Given the description of an element on the screen output the (x, y) to click on. 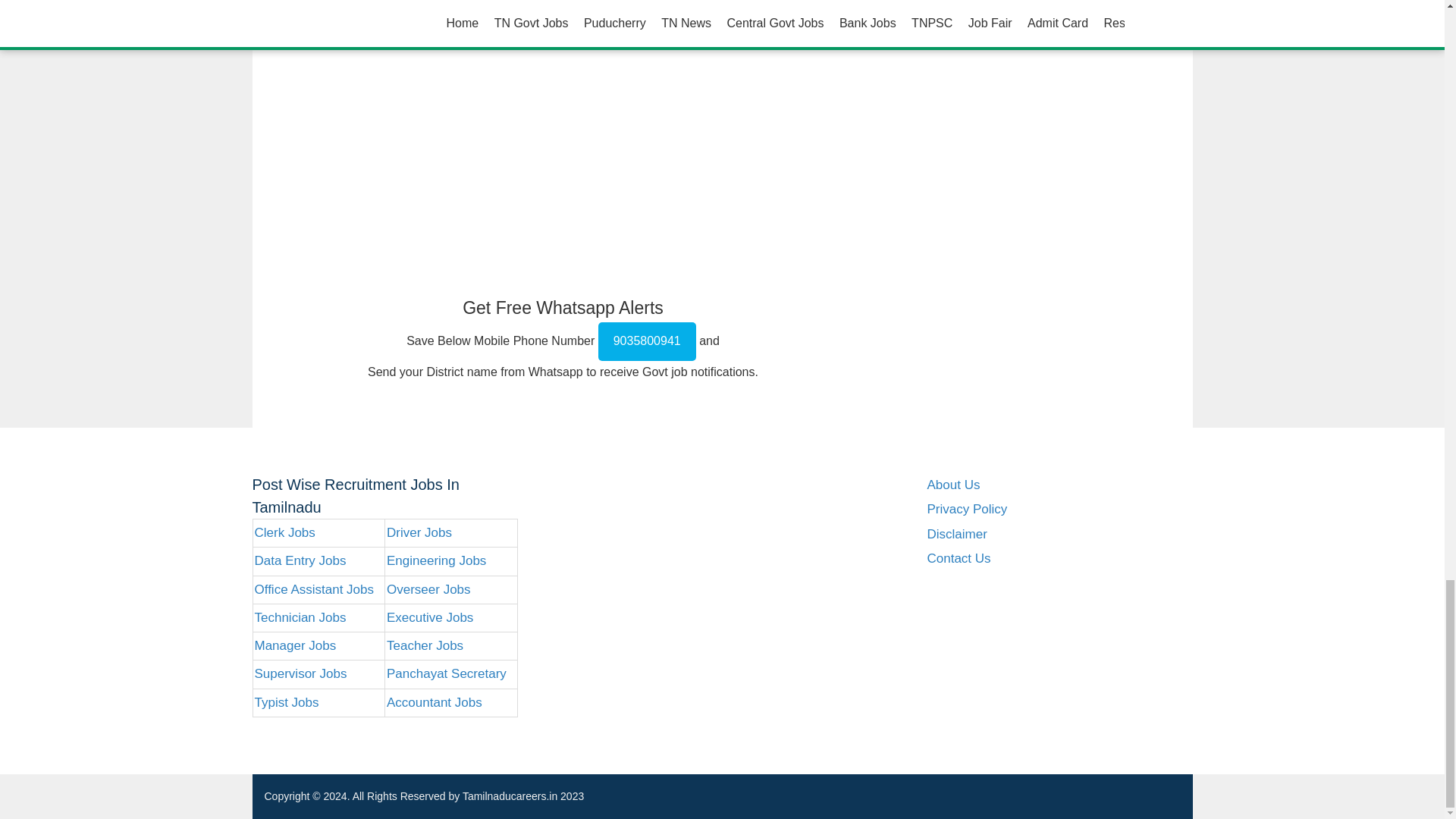
Click Here (387, 12)
Advertisement (562, 165)
